Given the description of an element on the screen output the (x, y) to click on. 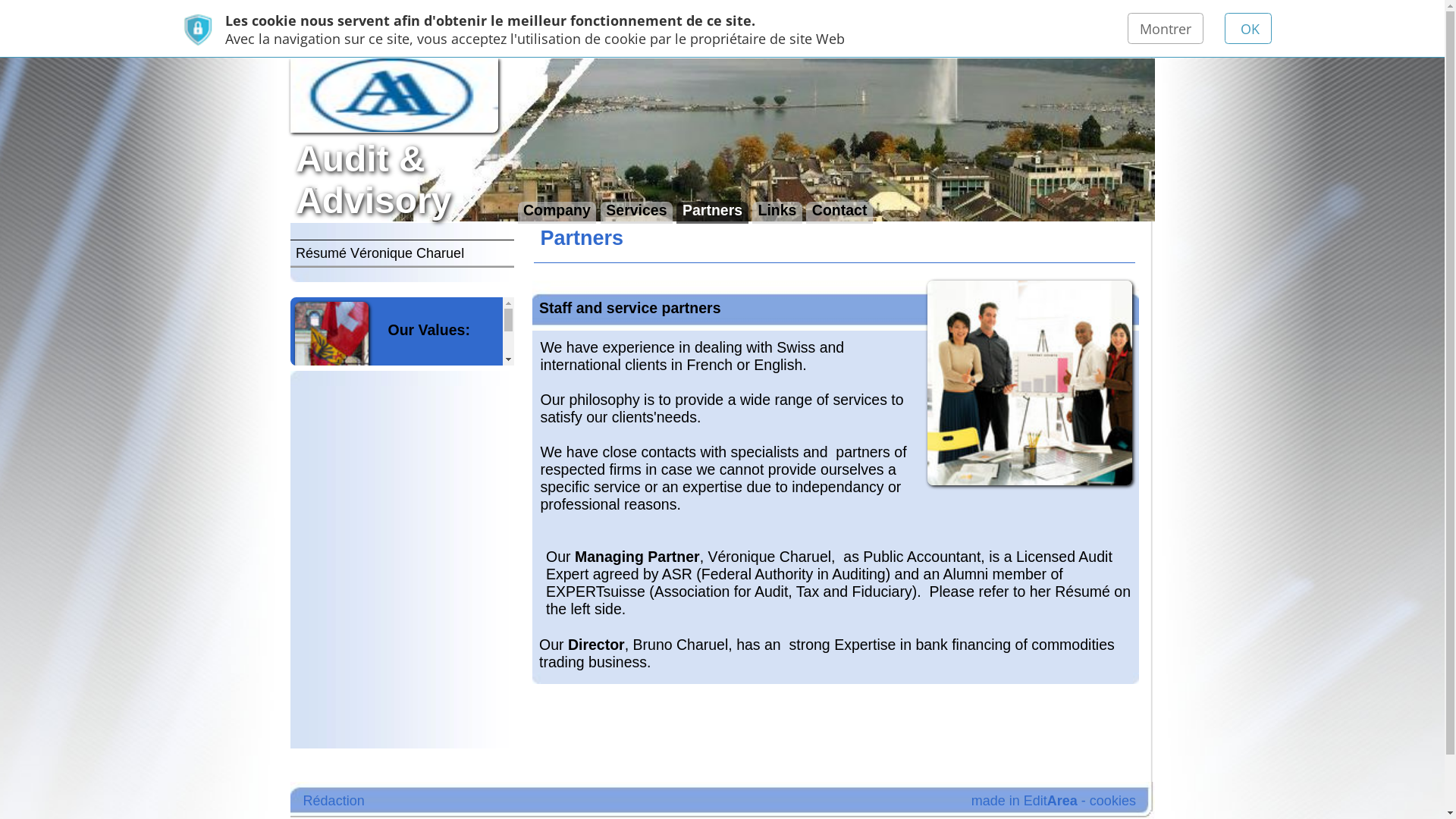
Company Element type: text (371, 141)
Services Element type: text (424, 141)
made in EditArea Element type: text (682, 533)
Staff and service partners Element type: hover (686, 254)
Partners Element type: text (474, 141)
cookies Element type: text (741, 533)
Contact Element type: text (559, 141)
OK Element type: text (831, 18)
Montrer Element type: text (776, 18)
Links Element type: text (517, 141)
Audit & Advisory
Company Services Partners Links Contact Element type: text (481, 92)
